Given the description of an element on the screen output the (x, y) to click on. 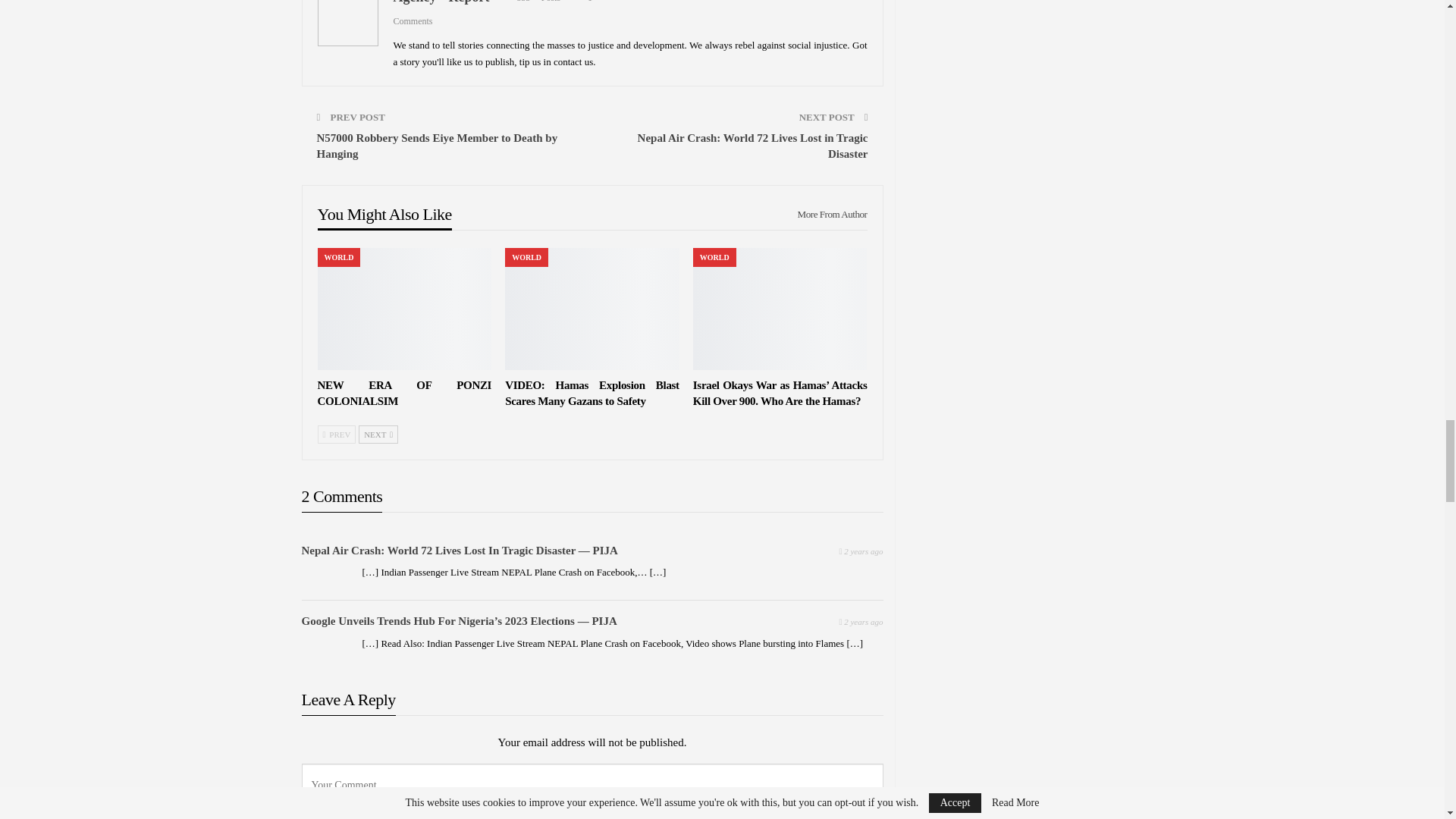
NEW ERA OF PONZI COLONIALSIM (404, 309)
NEW ERA OF PONZI COLONIALSIM (404, 393)
